Given the description of an element on the screen output the (x, y) to click on. 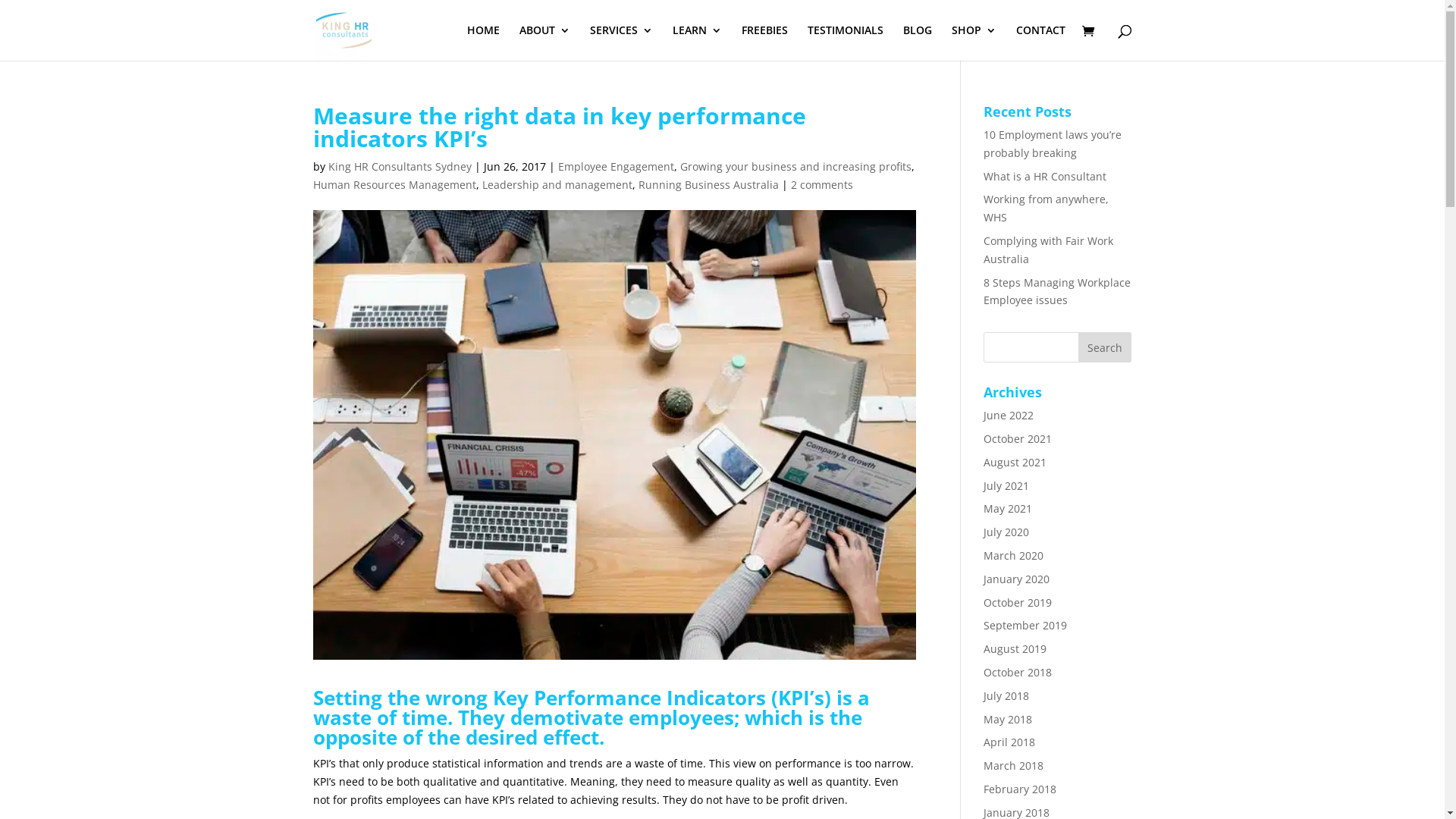
Leadership and management Element type: text (557, 184)
January 2020 Element type: text (1016, 578)
CONTACT Element type: text (1040, 42)
May 2018 Element type: text (1007, 719)
Human Resources Management Element type: text (393, 184)
March 2020 Element type: text (1013, 555)
Search Element type: text (1104, 347)
April 2018 Element type: text (1009, 741)
2 comments Element type: text (821, 184)
March 2018 Element type: text (1013, 765)
Running Business Australia Element type: text (708, 184)
King HR Consultants Sydney Element type: text (398, 166)
BLOG Element type: text (916, 42)
8 Steps Managing Workplace Employee issues Element type: text (1056, 291)
May 2021 Element type: text (1007, 508)
October 2019 Element type: text (1017, 602)
July 2021 Element type: text (1006, 485)
September 2019 Element type: text (1024, 625)
FREEBIES Element type: text (764, 42)
Employee Engagement Element type: text (616, 166)
LEARN Element type: text (696, 42)
HOME Element type: text (483, 42)
August 2019 Element type: text (1014, 648)
What is a HR Consultant Element type: text (1044, 176)
February 2018 Element type: text (1019, 788)
SHOP Element type: text (972, 42)
August 2021 Element type: text (1014, 462)
October 2021 Element type: text (1017, 438)
October 2018 Element type: text (1017, 672)
July 2018 Element type: text (1006, 695)
July 2020 Element type: text (1006, 531)
Working from anywhere, WHS Element type: text (1045, 207)
Complying with Fair Work Australia Element type: text (1048, 249)
June 2022 Element type: text (1008, 414)
SERVICES Element type: text (620, 42)
Growing your business and increasing profits Element type: text (794, 166)
ABOUT Element type: text (543, 42)
TESTIMONIALS Element type: text (844, 42)
